Given the description of an element on the screen output the (x, y) to click on. 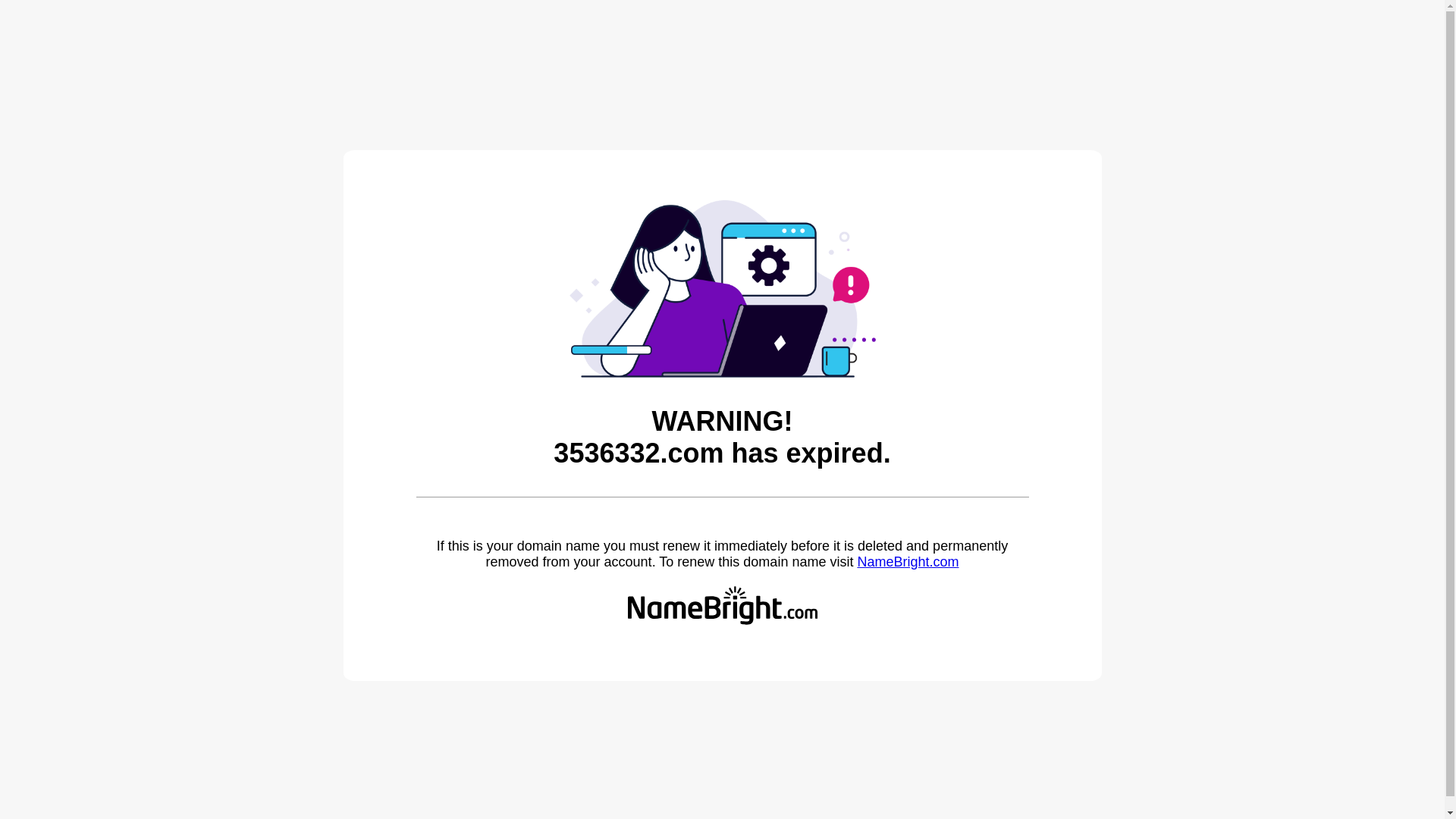
NameBright.com Element type: text (907, 561)
